Given the description of an element on the screen output the (x, y) to click on. 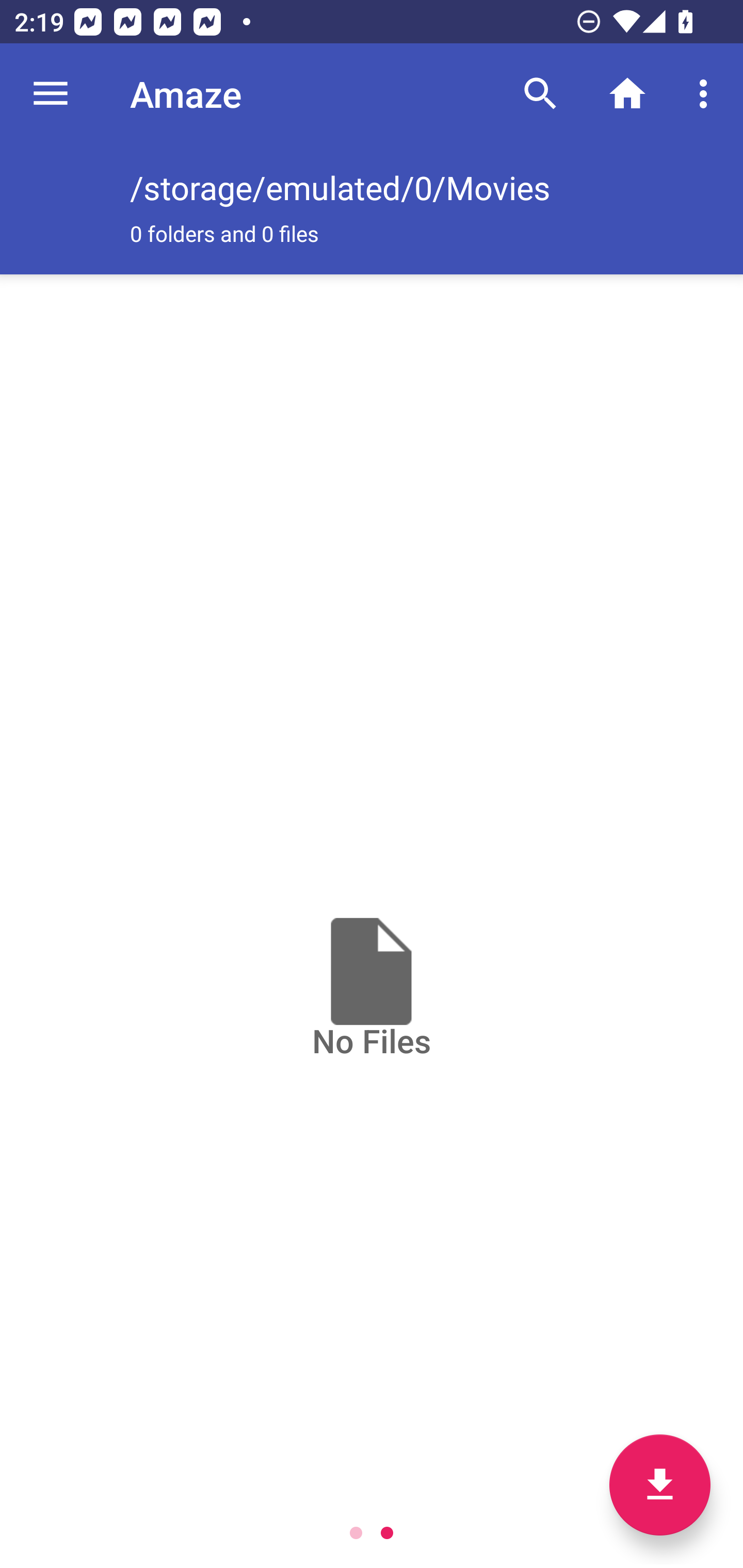
Navigate up (50, 93)
Search (540, 93)
Home (626, 93)
More options (706, 93)
